Given the description of an element on the screen output the (x, y) to click on. 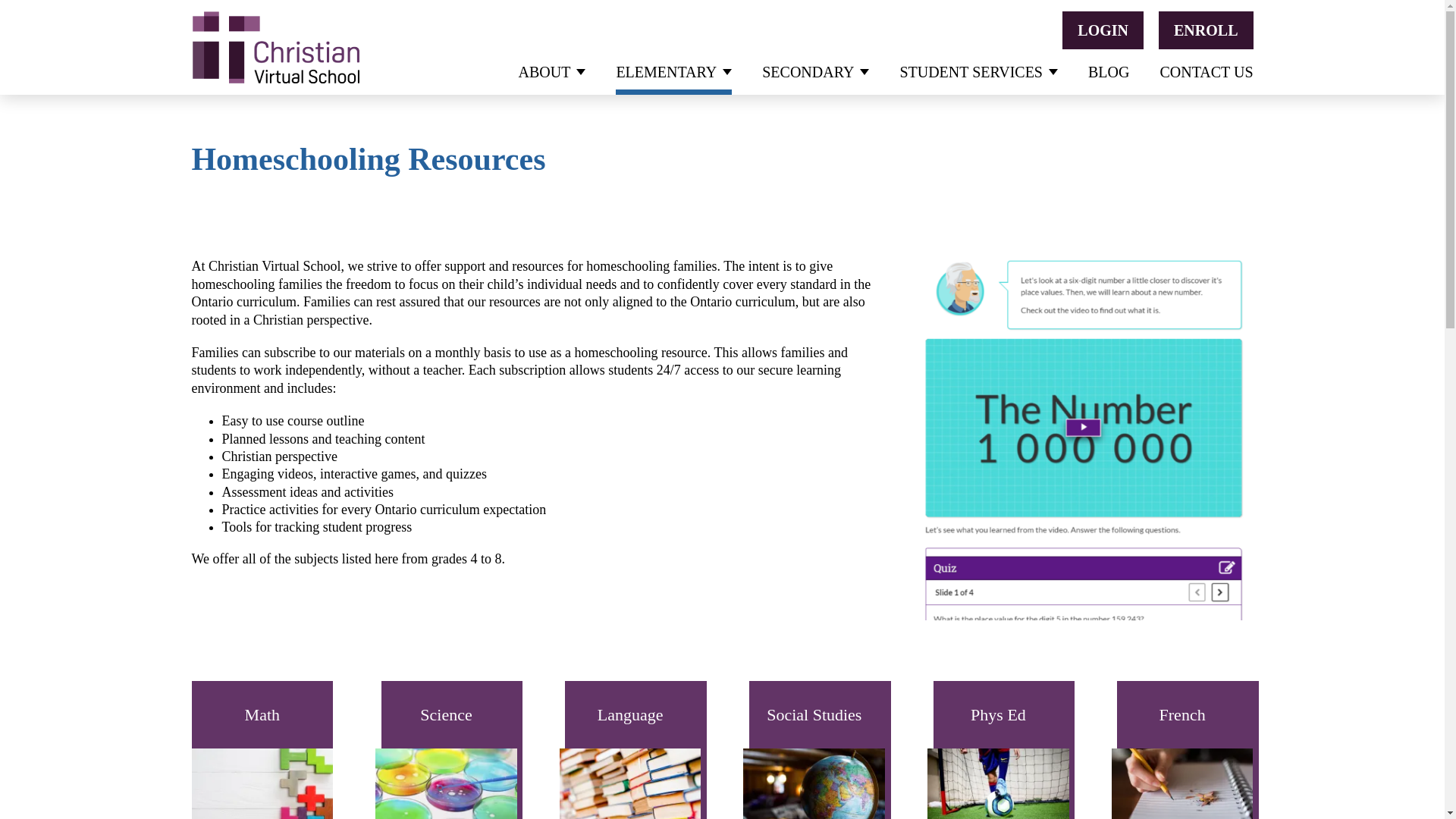
STUDENT SERVICES (978, 71)
SECONDARY (815, 71)
ABOUT (552, 71)
CONTACT US (1205, 71)
ELEMENTARY (673, 71)
ENROLL (1205, 30)
LOGIN (1102, 30)
BLOG (1108, 71)
